Given the description of an element on the screen output the (x, y) to click on. 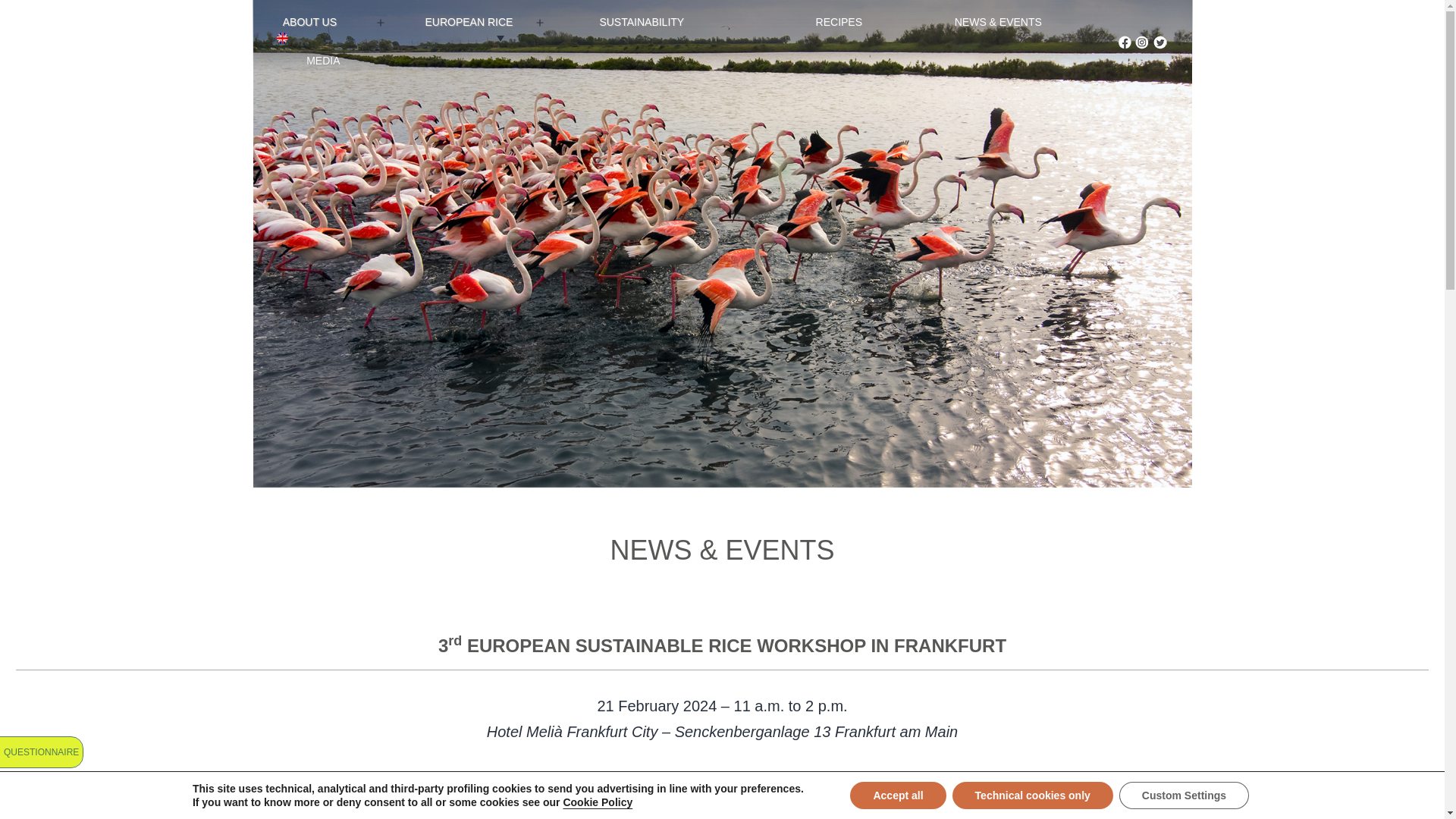
EUROPEAN RICE (468, 22)
ABOUT US (310, 22)
MEDIA (323, 59)
SUSTAINABILITY (641, 22)
Accept all (897, 795)
RECIPES (838, 22)
Cookie Policy (596, 802)
